Given the description of an element on the screen output the (x, y) to click on. 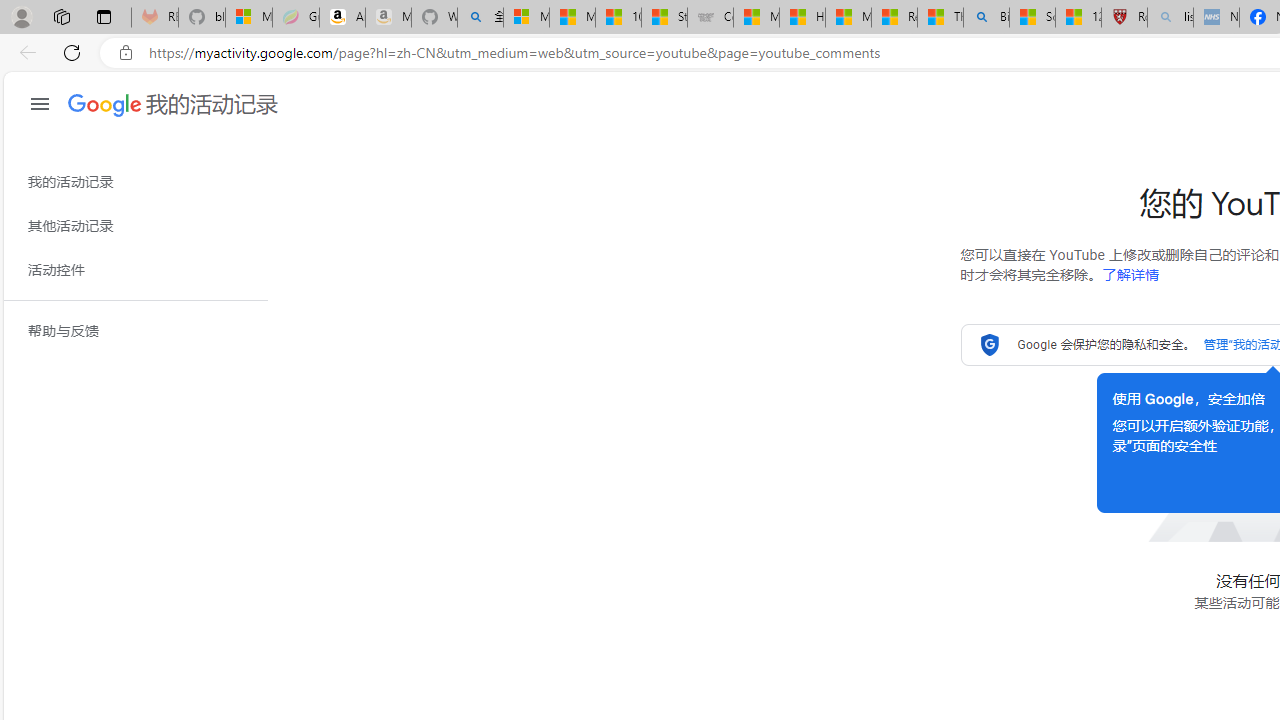
Science - MSN (1031, 17)
How I Got Rid of Microsoft Edge's Unnecessary Features (802, 17)
Microsoft account | Privacy (526, 17)
Combat Siege (710, 17)
